Given the description of an element on the screen output the (x, y) to click on. 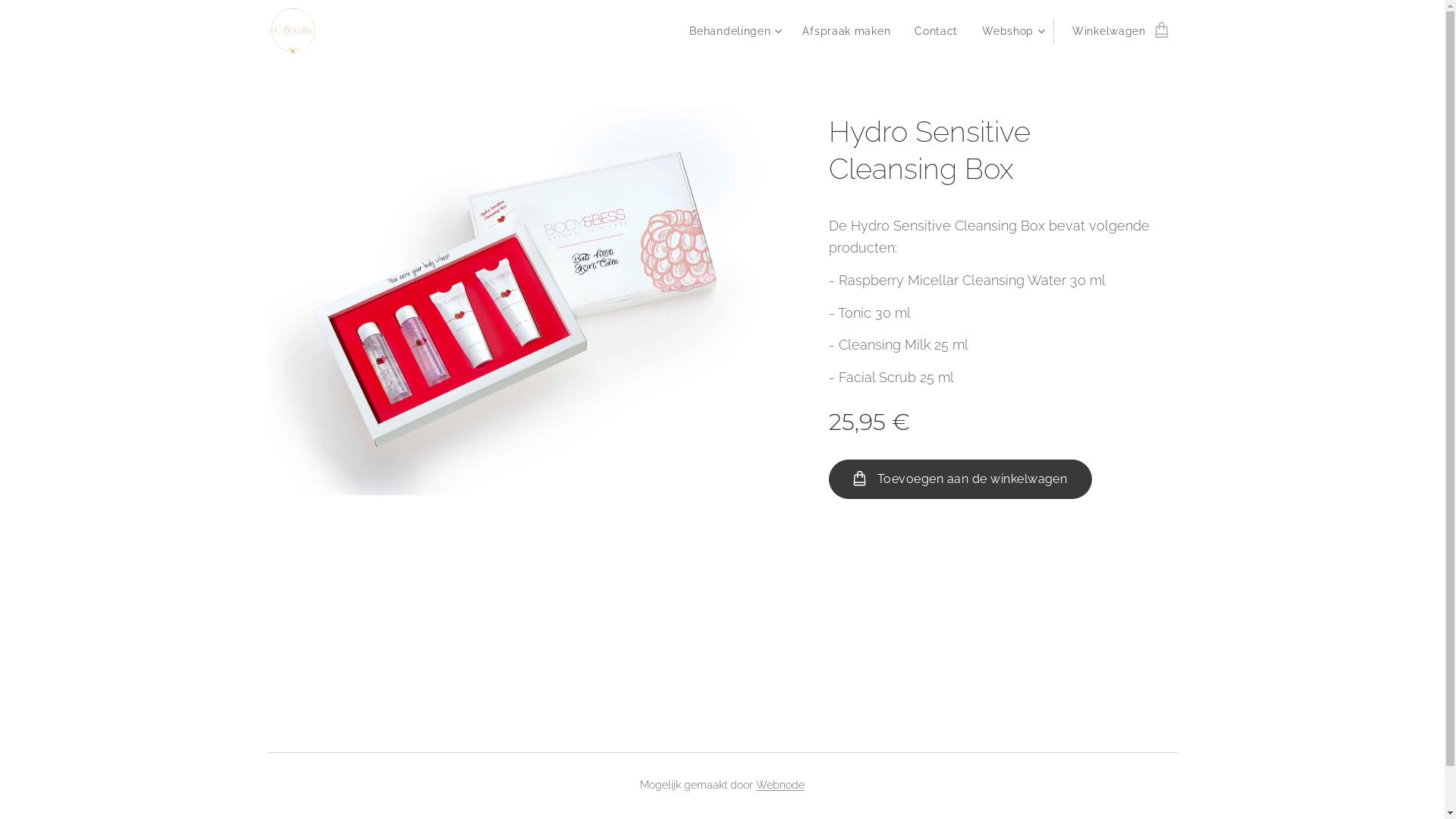
Contact Element type: text (935, 31)
Webnode Element type: text (780, 784)
Afspraak maken Element type: text (846, 31)
Toevoegen aan de winkelwagen Element type: text (960, 478)
Webshop Element type: text (1011, 31)
Behandelingen Element type: text (737, 31)
Winkelwagen Element type: text (1114, 31)
